Given the description of an element on the screen output the (x, y) to click on. 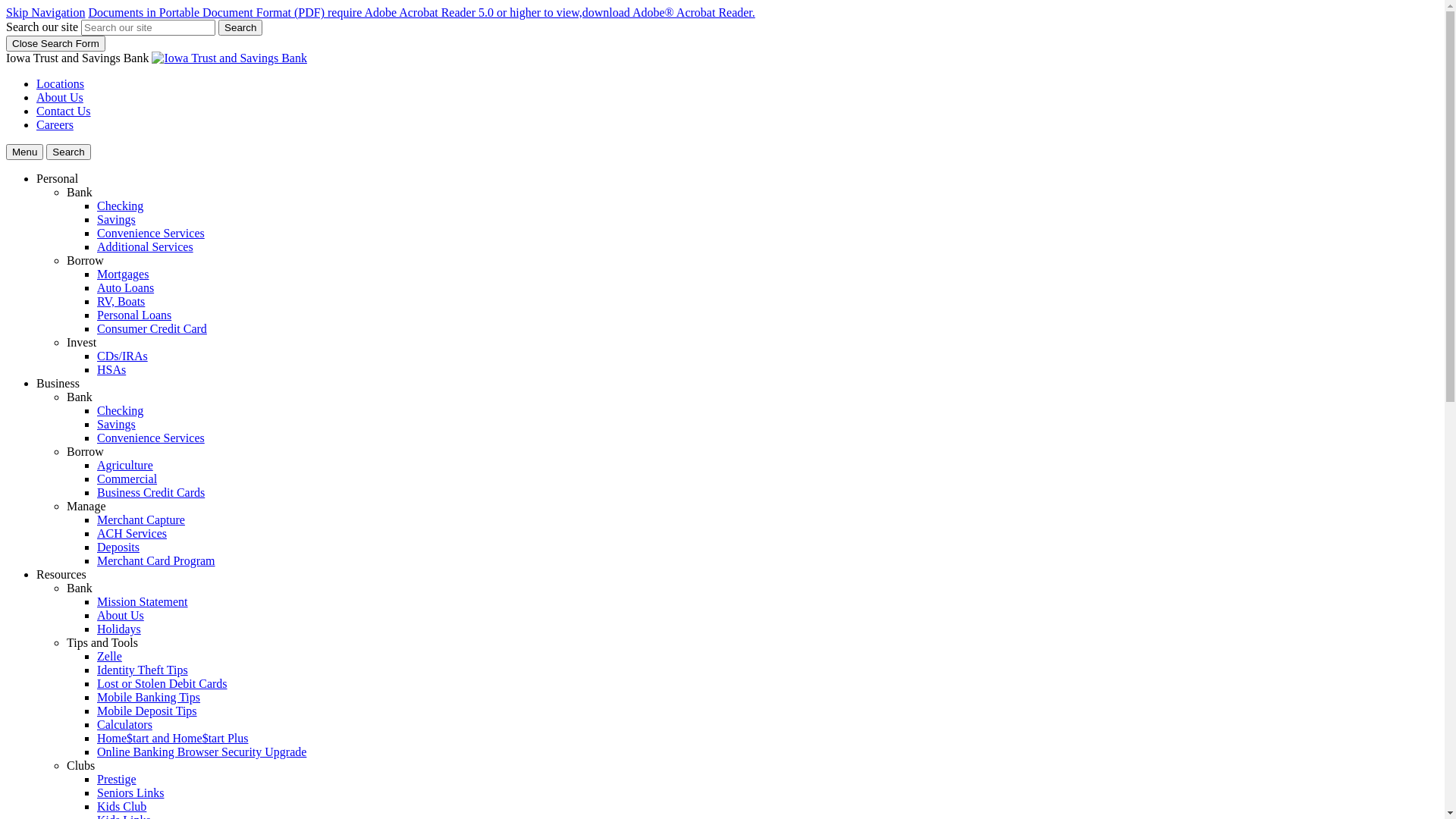
Agriculture Element type: text (125, 464)
Locations Element type: text (60, 83)
Merchant Card Program Element type: text (156, 560)
Checking Element type: text (120, 410)
Holidays Element type: text (119, 628)
Menu Element type: text (24, 152)
Seniors Links Element type: text (130, 792)
Mission Statement Element type: text (142, 601)
Identity Theft Tips Element type: text (142, 669)
Skip Navigation Element type: text (45, 12)
Kids Club Element type: text (121, 806)
About Us Element type: text (59, 97)
Savings Element type: text (116, 423)
Prestige Element type: text (116, 778)
Savings Element type: text (116, 219)
Mobile Deposit Tips Element type: text (147, 710)
Home$tart and Home$tart Plus Element type: text (172, 737)
Mobile Banking Tips Element type: text (148, 696)
Additional Services Element type: text (145, 246)
Personal Loans Element type: text (134, 314)
Auto Loans Element type: text (125, 287)
Zelle Element type: text (109, 655)
ACH Services Element type: text (131, 533)
RV, Boats Element type: text (120, 300)
Convenience Services Element type: text (150, 437)
Iowa Trust and Savings Bank, Centerville, IA Element type: hover (228, 57)
HSAs Element type: text (111, 369)
Commercial Element type: text (126, 478)
Contact Us Element type: text (63, 110)
Business Credit Cards Element type: text (150, 492)
Checking Element type: text (120, 205)
Consumer Credit Card Element type: text (152, 328)
Mortgages Element type: text (122, 273)
About Us Element type: text (120, 614)
Close Search Form Element type: text (55, 43)
Merchant Capture Element type: text (141, 519)
Online Banking Browser Security Upgrade Element type: text (201, 751)
Lost or Stolen Debit Cards Element type: text (162, 683)
Search Element type: text (240, 27)
CDs/IRAs Element type: text (122, 355)
Careers Element type: text (54, 124)
Search Element type: text (68, 152)
Deposits Element type: text (118, 546)
Convenience Services Element type: text (150, 232)
Calculators Element type: text (124, 724)
